Given the description of an element on the screen output the (x, y) to click on. 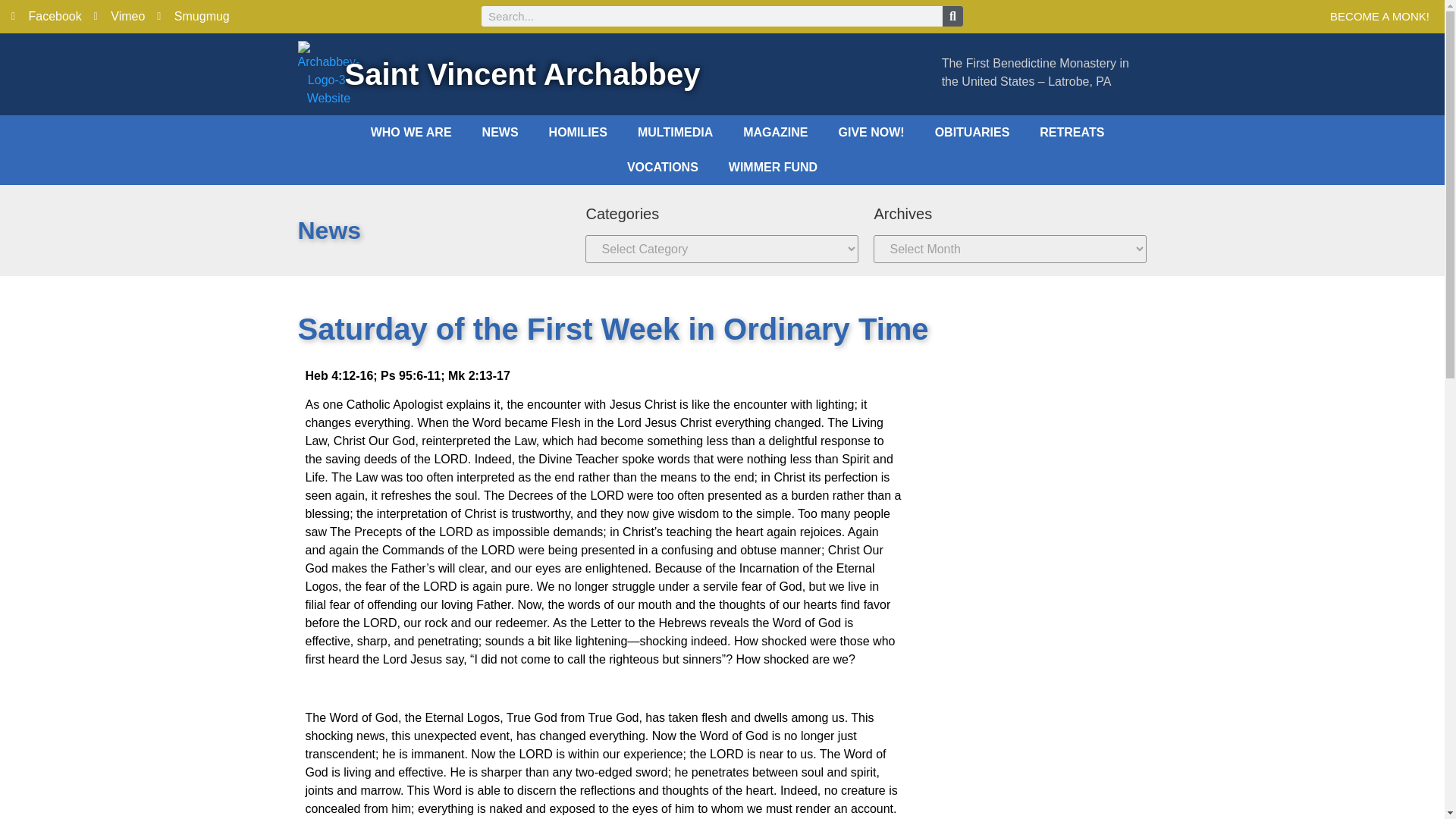
MAGAZINE (775, 132)
MULTIMEDIA (675, 132)
Facebook (46, 16)
NEWS (500, 132)
OBITUARIES (972, 132)
RETREATS (1072, 132)
Saint Vincent Archabbey (521, 73)
Archabbey-Logo-3-Website (328, 73)
Vimeo (119, 16)
WHO WE ARE (411, 132)
